Given the description of an element on the screen output the (x, y) to click on. 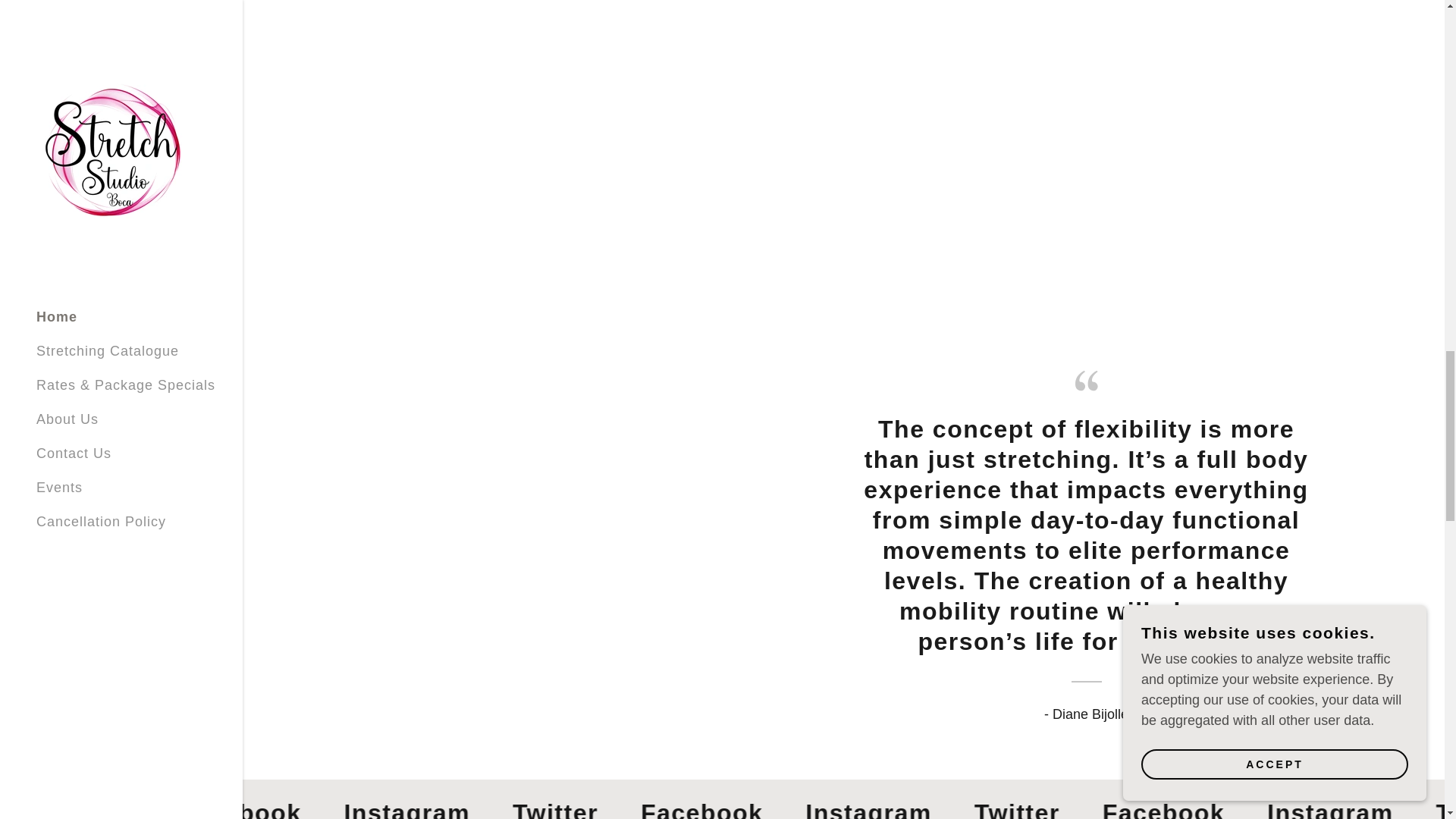
Twitter (1016, 808)
Instagram (870, 808)
Twitter (564, 808)
Instagram (1324, 808)
Facebook (253, 808)
Facebook (1160, 808)
Instagram (417, 808)
Facebook (706, 808)
